Given the description of an element on the screen output the (x, y) to click on. 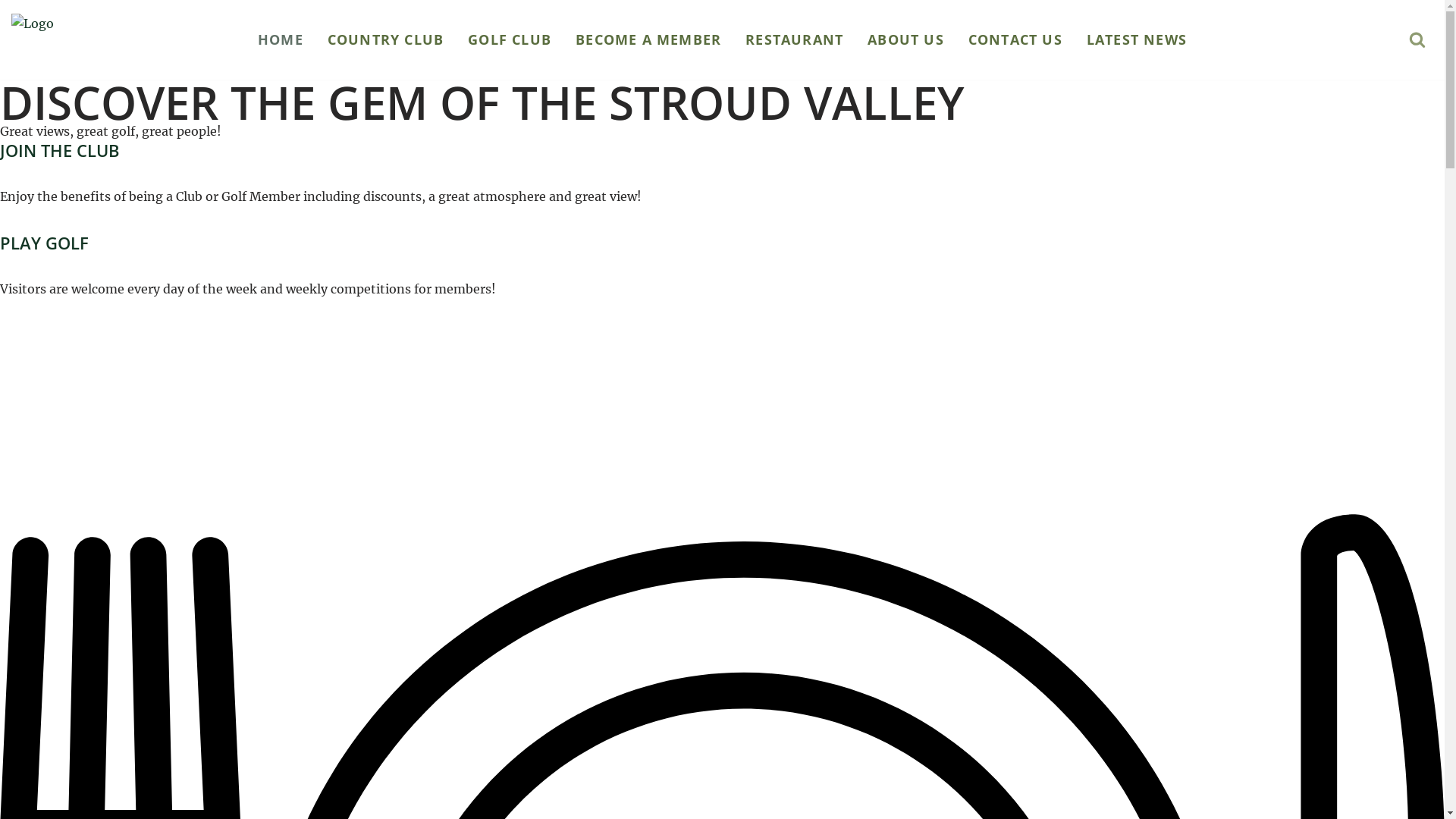
COUNTRY CLUB Element type: text (385, 39)
Stroud Country Club Element type: hover (71, 39)
LATEST NEWS Element type: text (1136, 39)
Navigation Menu Element type: text (1139, 98)
BECOME A MEMBER Element type: text (648, 39)
ABOUT US Element type: text (905, 39)
GOLF CLUB Element type: text (509, 39)
CONTACT US Element type: text (1015, 39)
JOIN THE CLUB Element type: text (59, 149)
Skip to content Element type: text (11, 31)
RESTAURANT Element type: text (794, 39)
HOME Element type: text (280, 39)
PLAY GOLF Element type: text (44, 242)
